Given the description of an element on the screen output the (x, y) to click on. 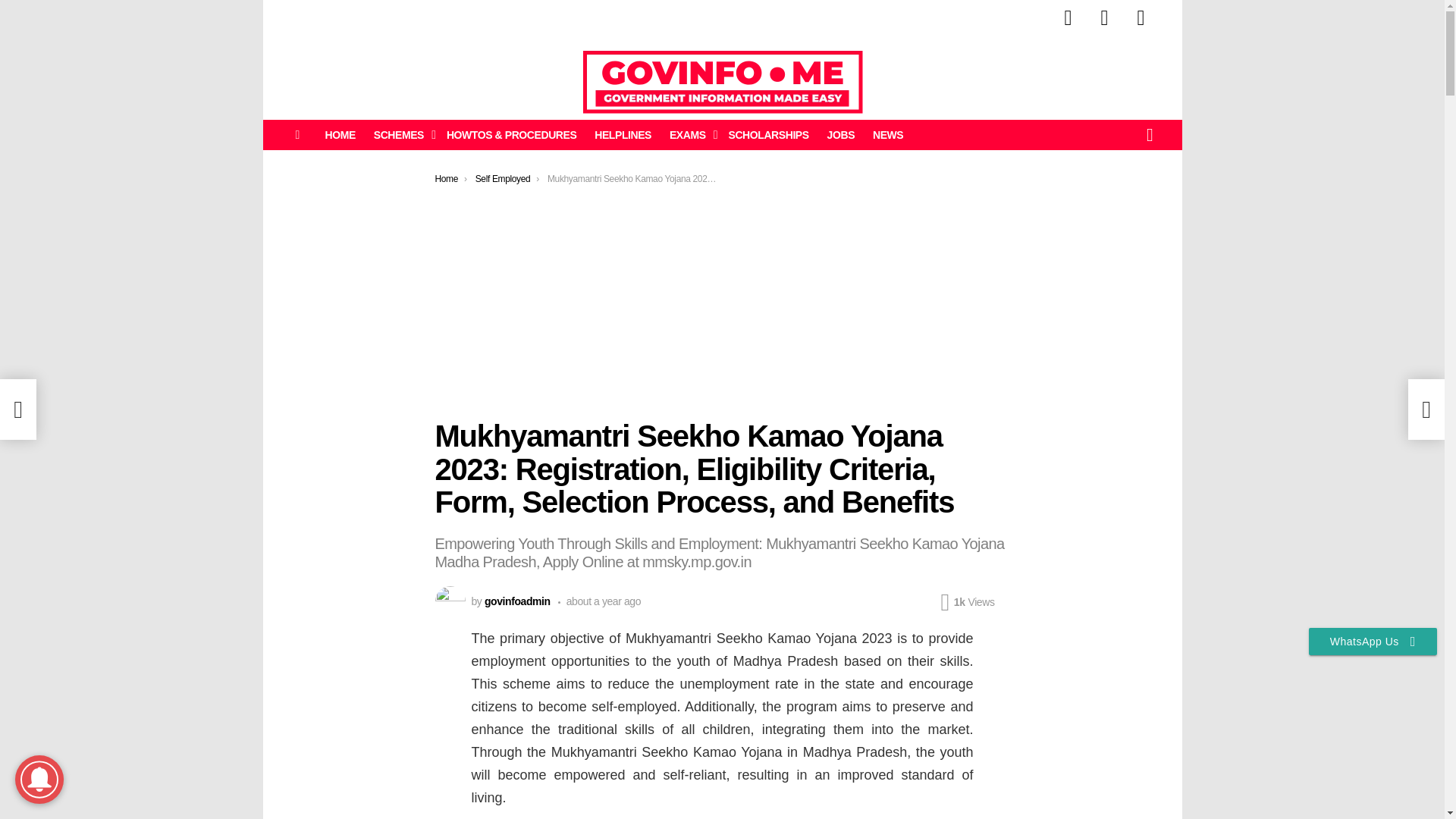
HOME (339, 134)
twitter (1104, 18)
Posts by govinfoadmin (517, 601)
SCHEMES (400, 134)
facebook (1067, 18)
youtube (1140, 18)
Menu (296, 135)
July 1, 2023, 11:49 am (598, 601)
